Given the description of an element on the screen output the (x, y) to click on. 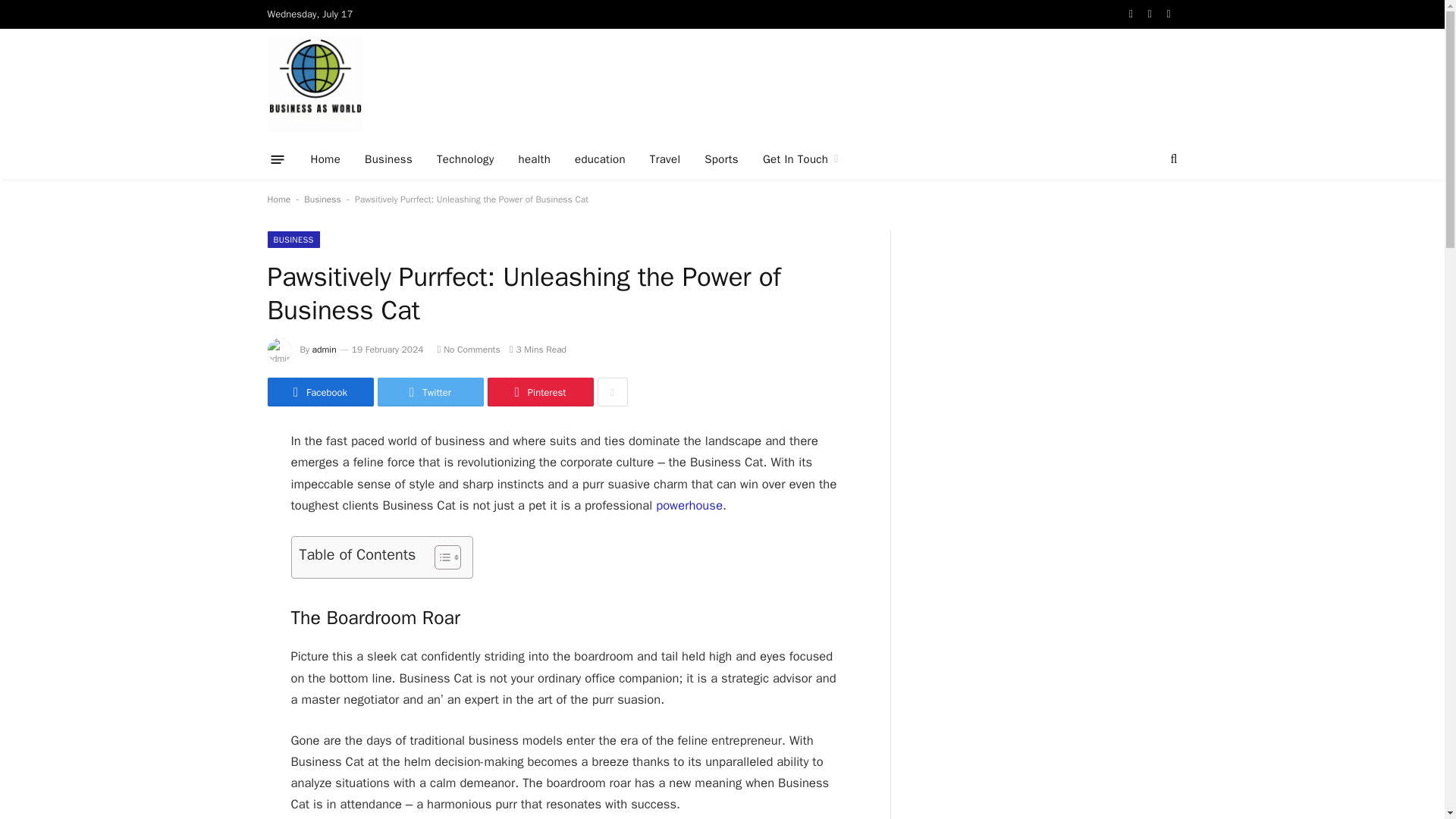
BUSINESS (292, 239)
Instagram (1168, 14)
Facebook (319, 391)
Technology (465, 159)
Show More Social Sharing (611, 391)
admin (324, 349)
Facebook (1131, 14)
Posts by admin (324, 349)
Home (325, 159)
Search (1172, 159)
Share on Pinterest (539, 391)
Business (322, 199)
Business (388, 159)
Get In Touch (800, 159)
education (599, 159)
